Given the description of an element on the screen output the (x, y) to click on. 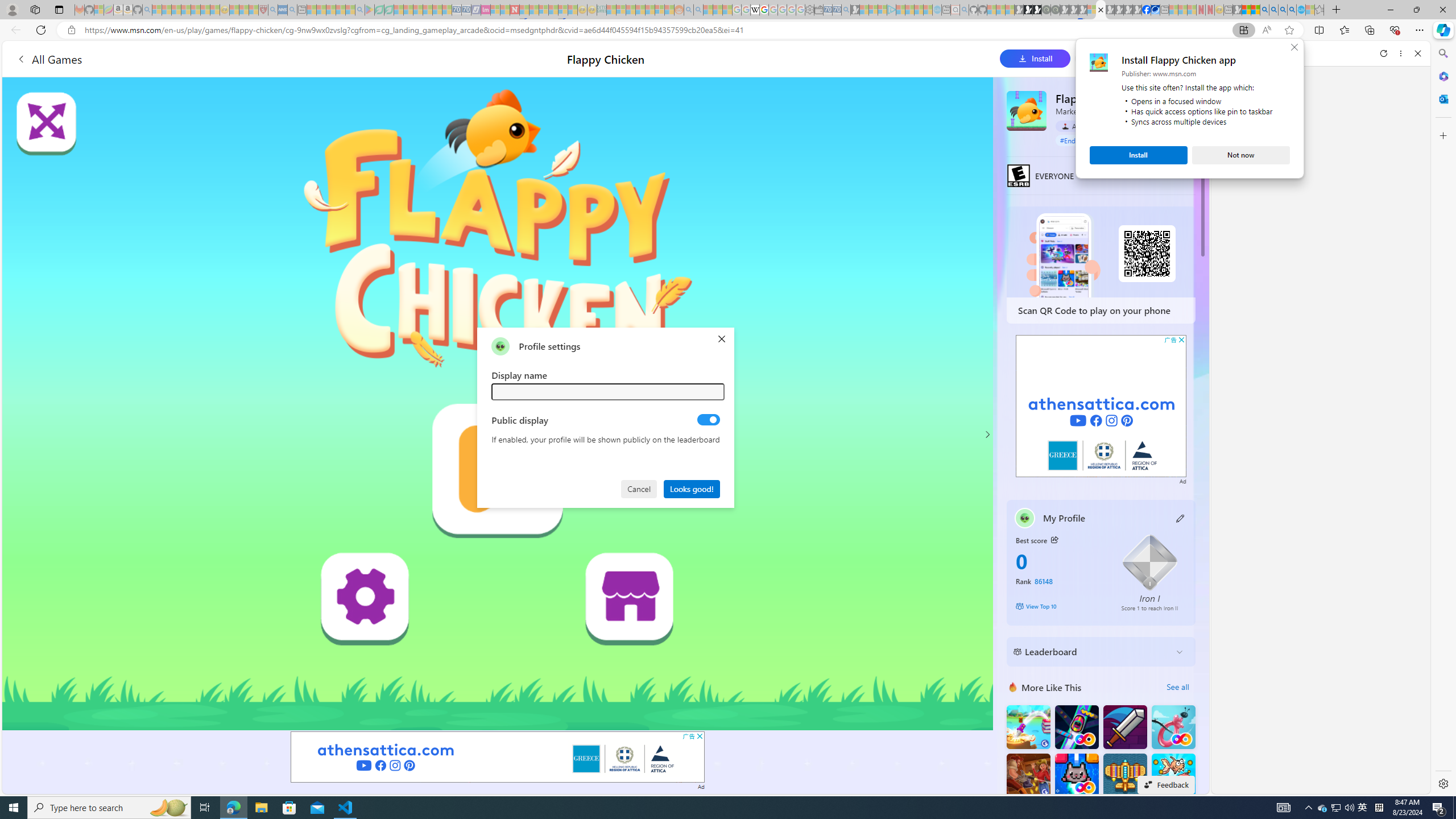
Fish Merge FRVR (1173, 775)
Google Chrome Internet Browser Download - Search Images (1291, 9)
""'s avatar (500, 345)
Class: button edit-icon (1180, 517)
Dungeon Master Knight (1124, 726)
Microsoft Store (289, 807)
2009 Bing officially replaced Live Search on June 3 - Search (1272, 9)
Install (1138, 154)
Microsoft Edge - 1 running window (233, 807)
